Given the description of an element on the screen output the (x, y) to click on. 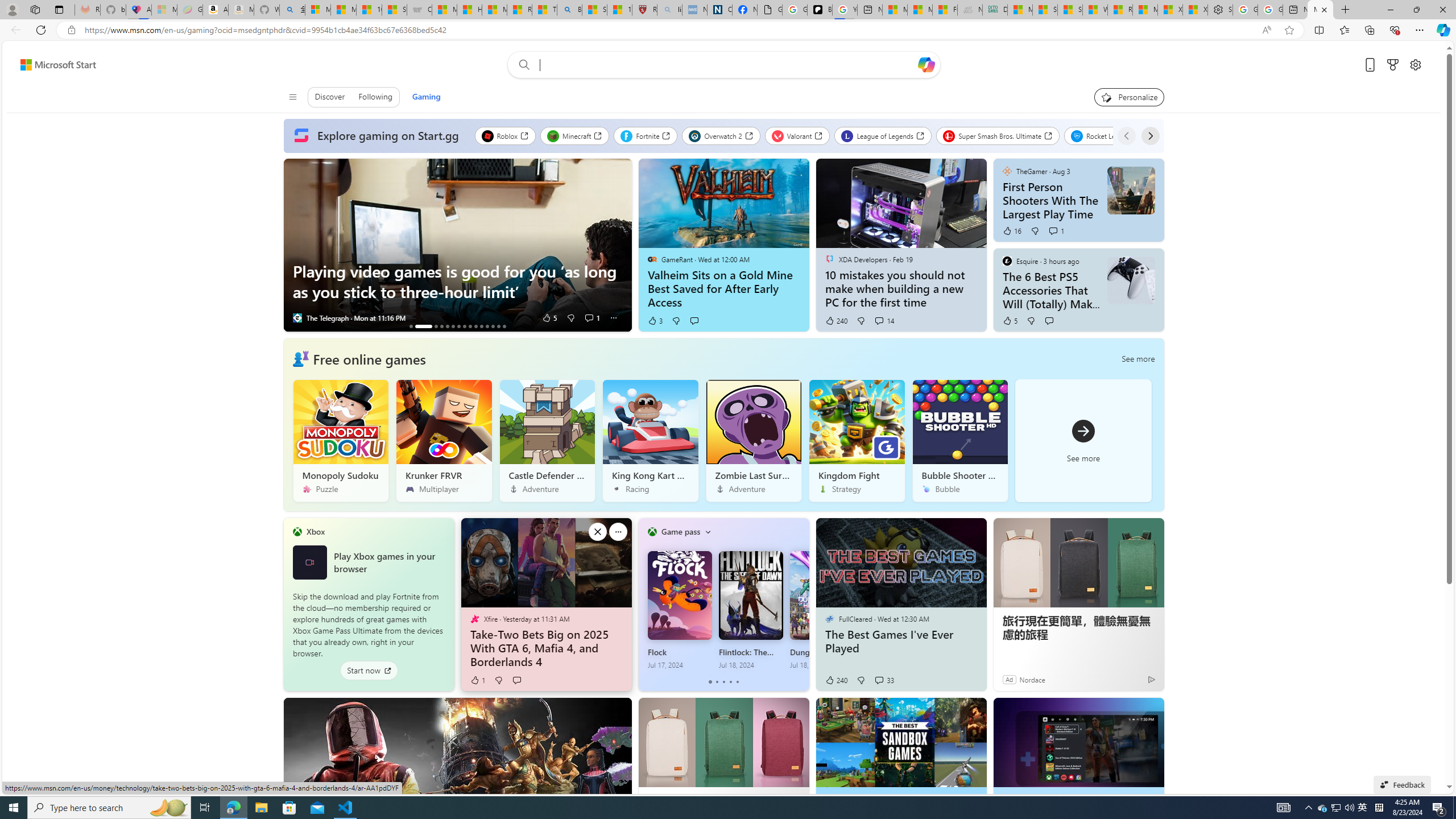
Be Smart | creating Science videos | Patreon (819, 9)
Previous slide (292, 245)
AutomationID: tab_nativead-infopane-14 (498, 326)
Microsoft-Report a Concern to Bing - Sleeping (164, 9)
Following (374, 97)
Xbox Logo (309, 562)
Select Category (707, 531)
5 Like (1009, 320)
Next slide (622, 245)
5 Of The Best Uses For An Old PS4 (475, 326)
